Given the description of an element on the screen output the (x, y) to click on. 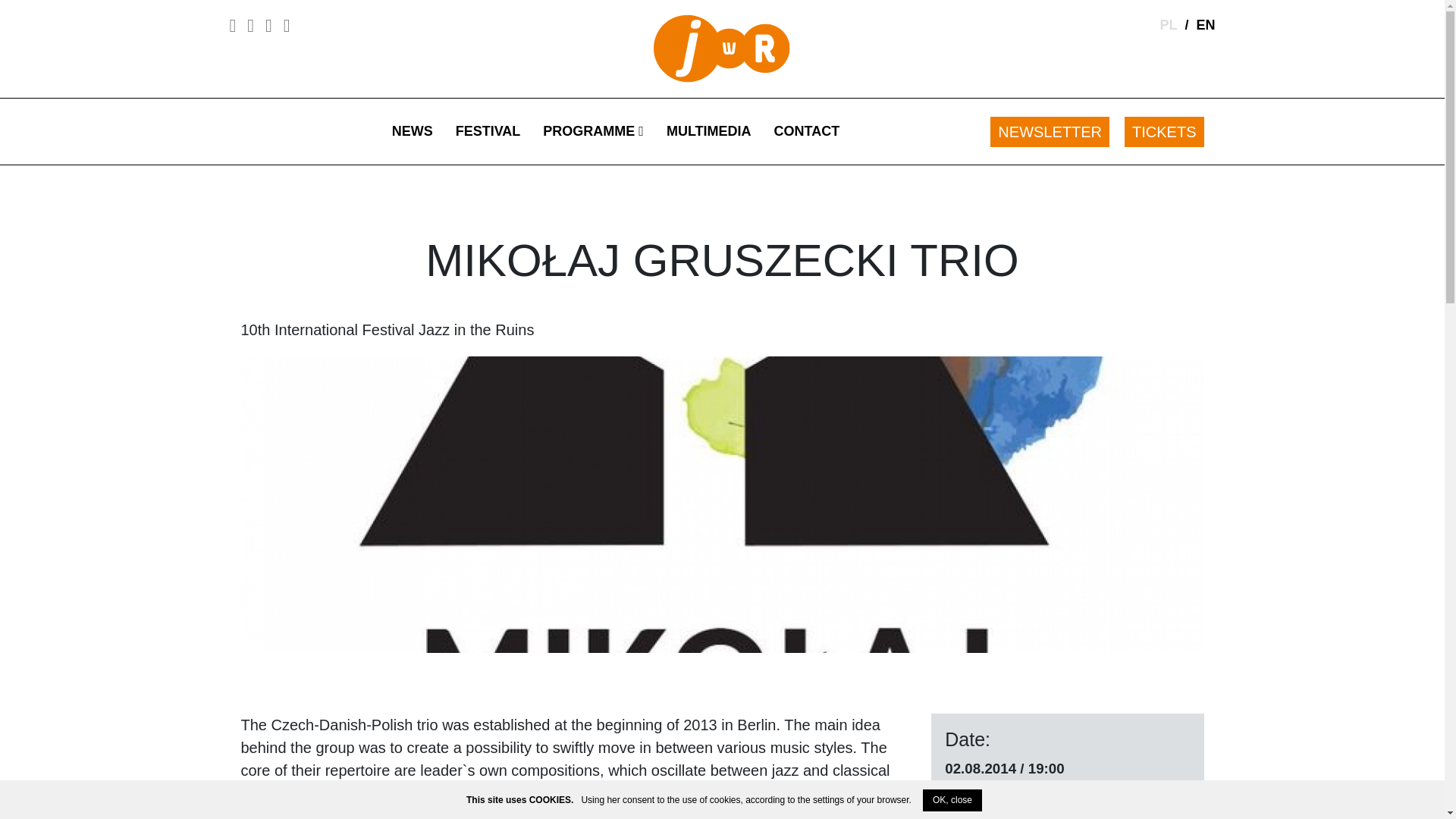
FESTIVAL (488, 131)
TICKETS (1163, 130)
MULTIMEDIA (708, 131)
PROGRAMME (593, 131)
NEWSLETTER (1049, 130)
NEWS (412, 131)
PL (1167, 24)
EN (1204, 24)
CONTACT (806, 131)
